Given the description of an element on the screen output the (x, y) to click on. 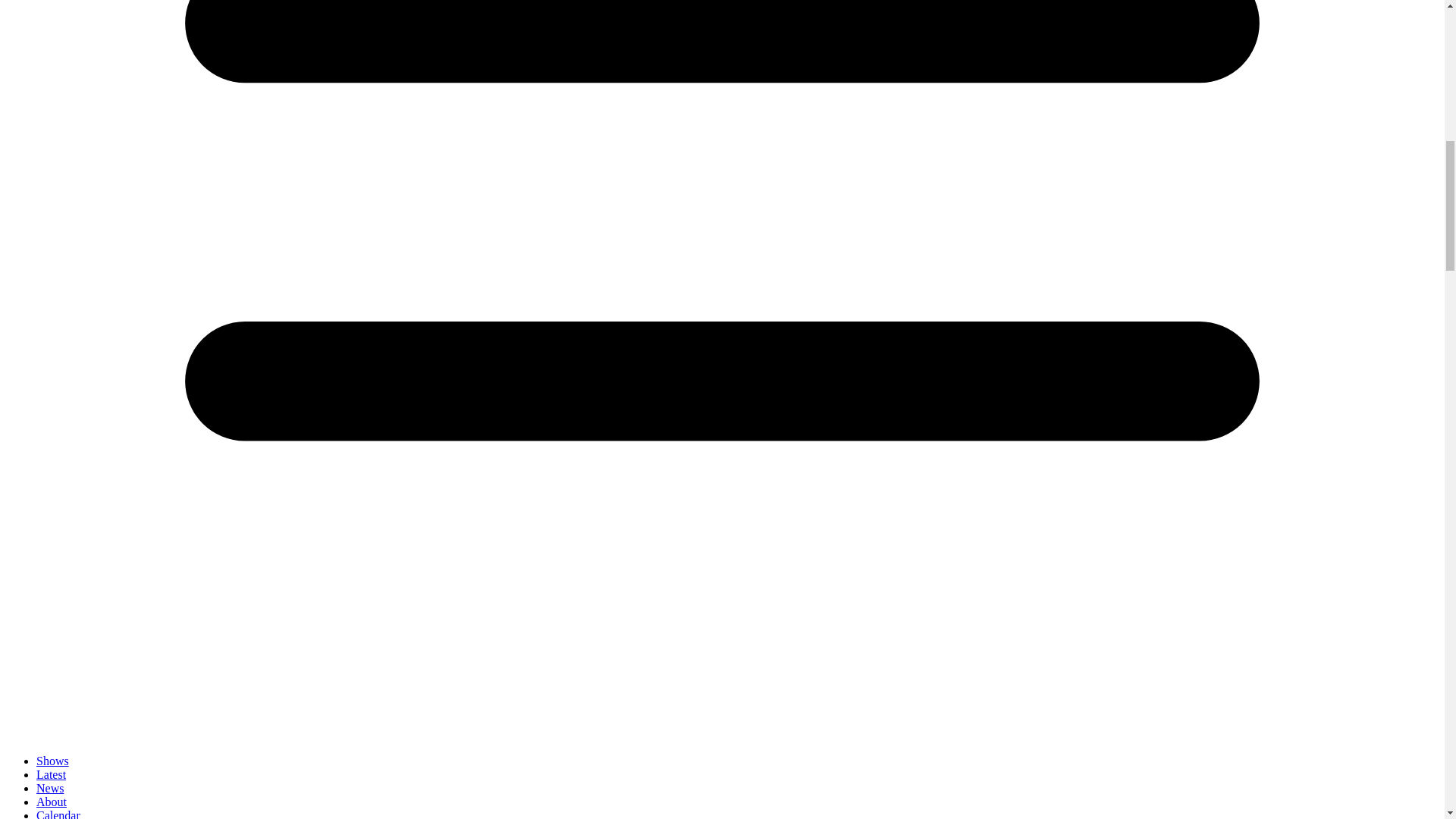
News (50, 788)
About (51, 801)
Calendar (58, 814)
Latest (50, 774)
Shows (52, 760)
